Given the description of an element on the screen output the (x, y) to click on. 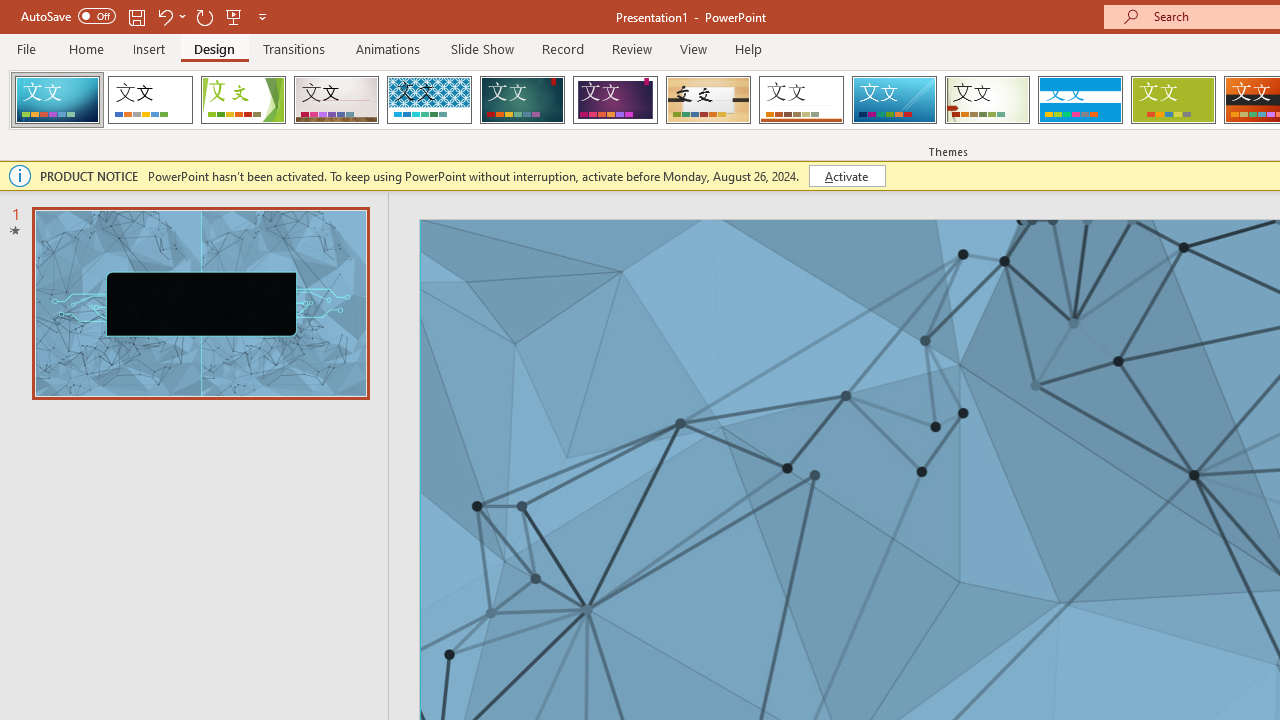
Slice (893, 100)
